Given the description of an element on the screen output the (x, y) to click on. 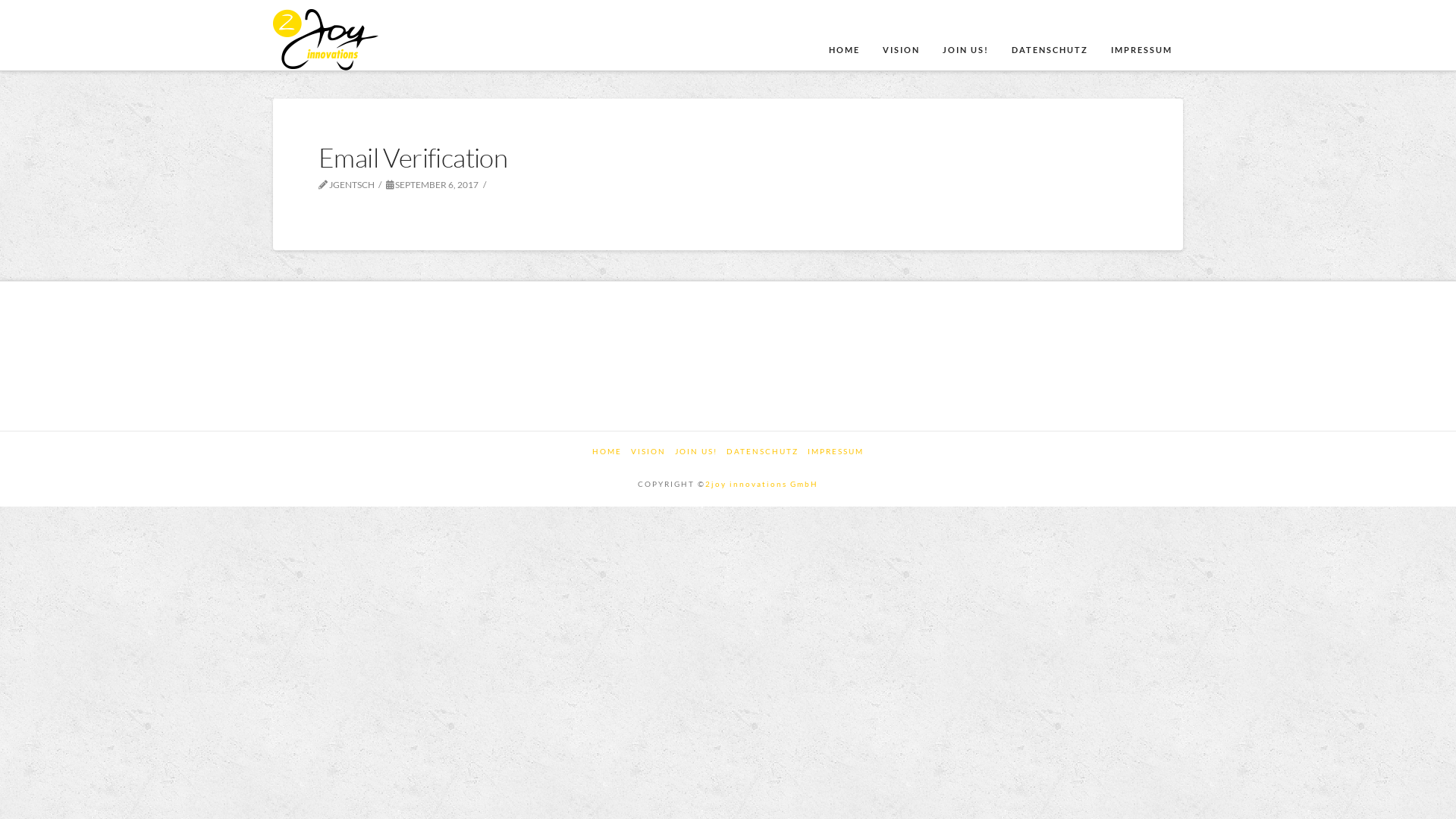
IMPRESSUM Element type: text (1140, 34)
DATENSCHUTZ Element type: text (762, 451)
IMPRESSUM Element type: text (835, 451)
DATENSCHUTZ Element type: text (1048, 34)
JOIN US! Element type: text (964, 34)
VISION Element type: text (900, 34)
HOME Element type: text (843, 34)
HOME Element type: text (606, 451)
JOIN US! Element type: text (695, 451)
VISION Element type: text (647, 451)
2joy innovations GmbH Element type: text (761, 483)
